Given the description of an element on the screen output the (x, y) to click on. 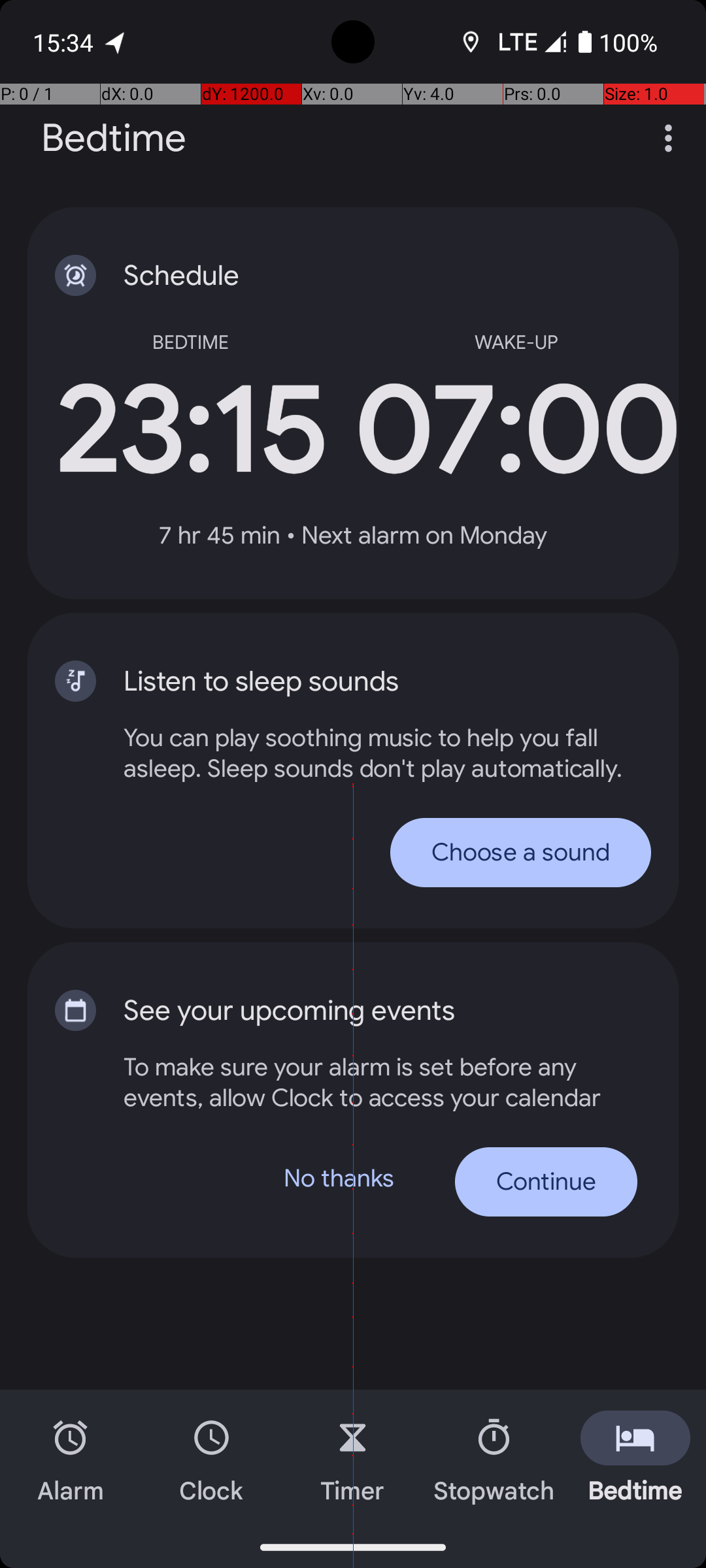
Schedule Element type: android.widget.TextView (359, 275)
23:15 Element type: android.widget.TextView (190, 430)
07:00 Element type: android.widget.TextView (515, 430)
7 hr 45 min • Next alarm on Monday Element type: android.widget.TextView (352, 535)
Listen to sleep sounds Element type: android.widget.TextView (359, 681)
You can play soothing music to help you fall asleep. Sleep sounds don't play automatically. Element type: android.widget.TextView (387, 753)
Choose a sound Element type: android.widget.Button (520, 852)
See your upcoming events Element type: android.widget.TextView (359, 1010)
To make sure your alarm is set before any events, allow Clock to access your calendar Element type: android.widget.TextView (380, 1082)
Continue Element type: android.widget.Button (545, 1181)
